Given the description of an element on the screen output the (x, y) to click on. 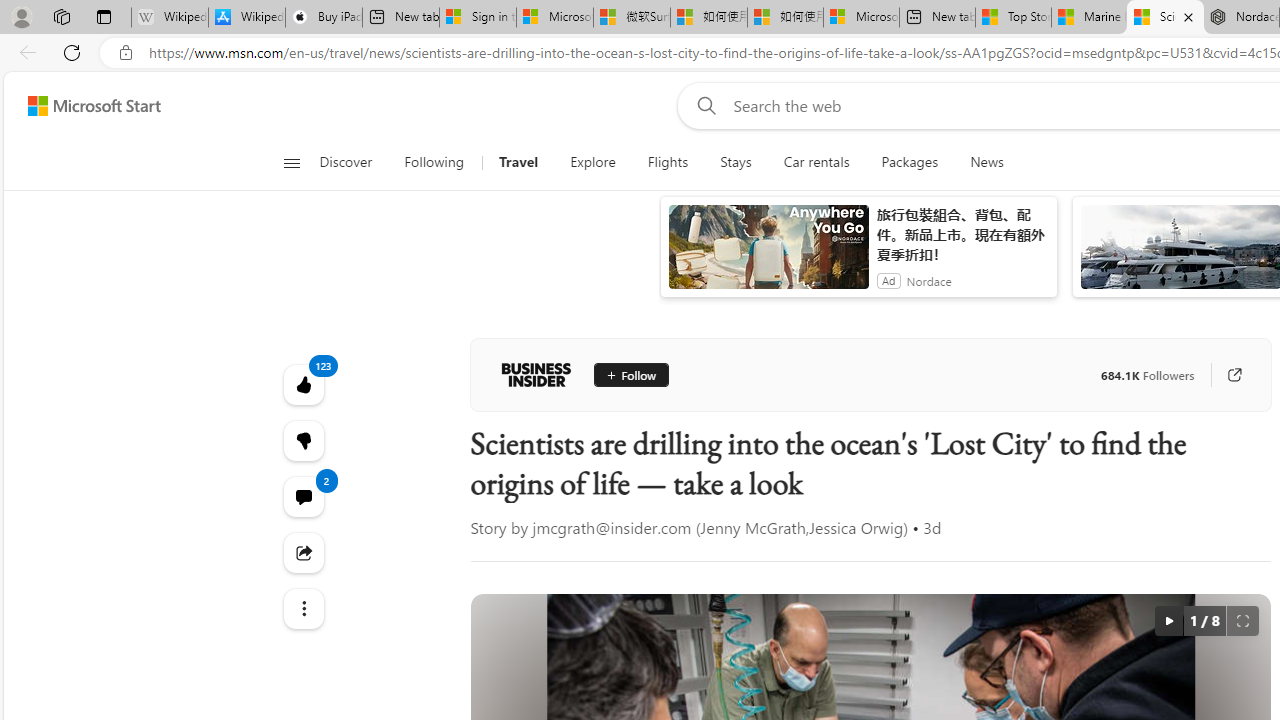
Dislike (302, 440)
Class: at-item (302, 609)
Full screen (1242, 620)
See more (302, 608)
Top Stories - MSN (1012, 17)
Follow (630, 374)
Class: button-glyph (290, 162)
Following (434, 162)
Open navigation menu (291, 162)
